Given the description of an element on the screen output the (x, y) to click on. 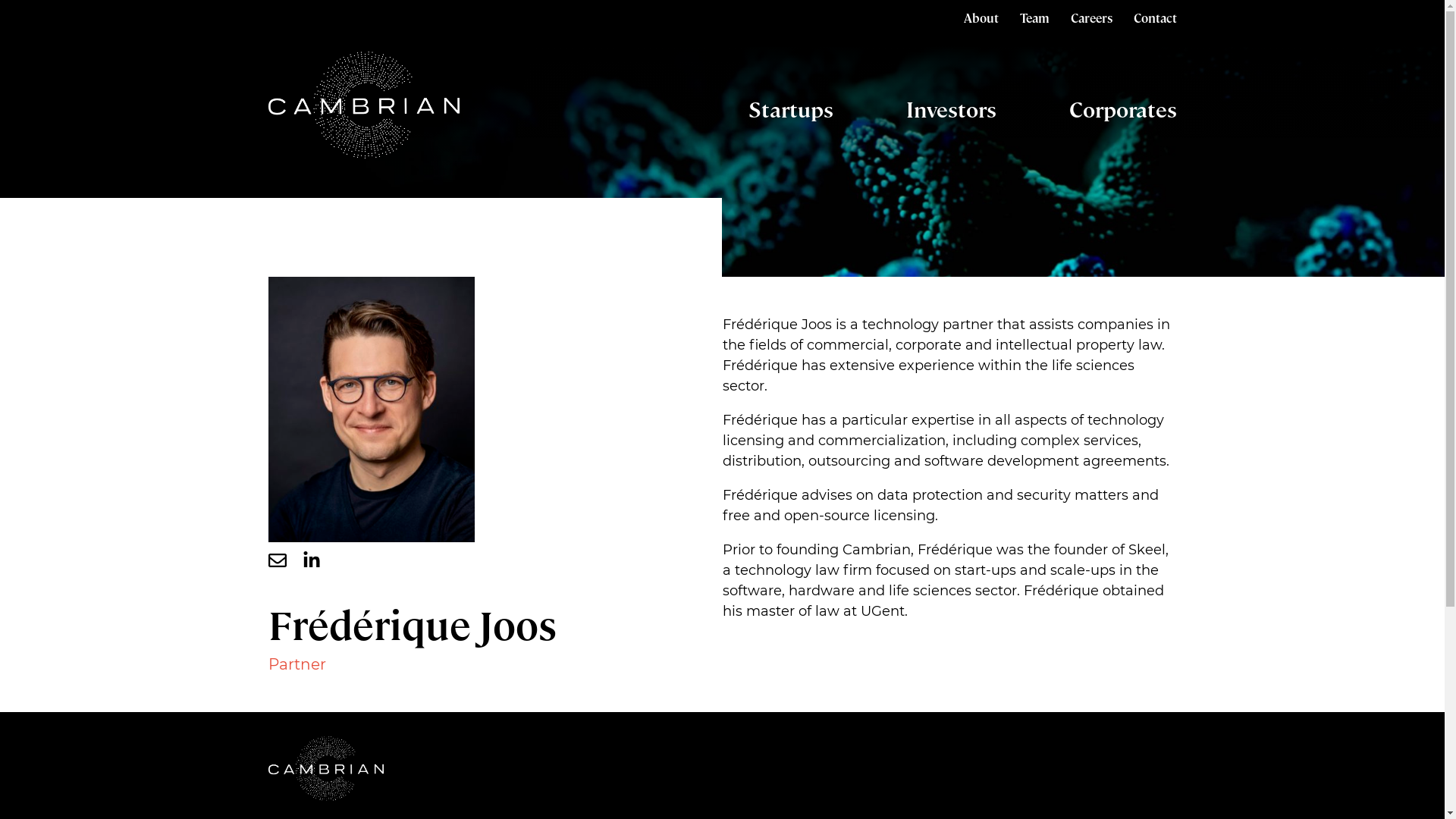
Startups Element type: text (789, 107)
About Element type: text (980, 18)
Send Element type: text (527, 519)
Careers Element type: text (1091, 18)
Investors Element type: text (950, 107)
Team Element type: text (1033, 18)
Corporates Element type: text (1122, 107)
Contact Element type: text (1154, 18)
